Given the description of an element on the screen output the (x, y) to click on. 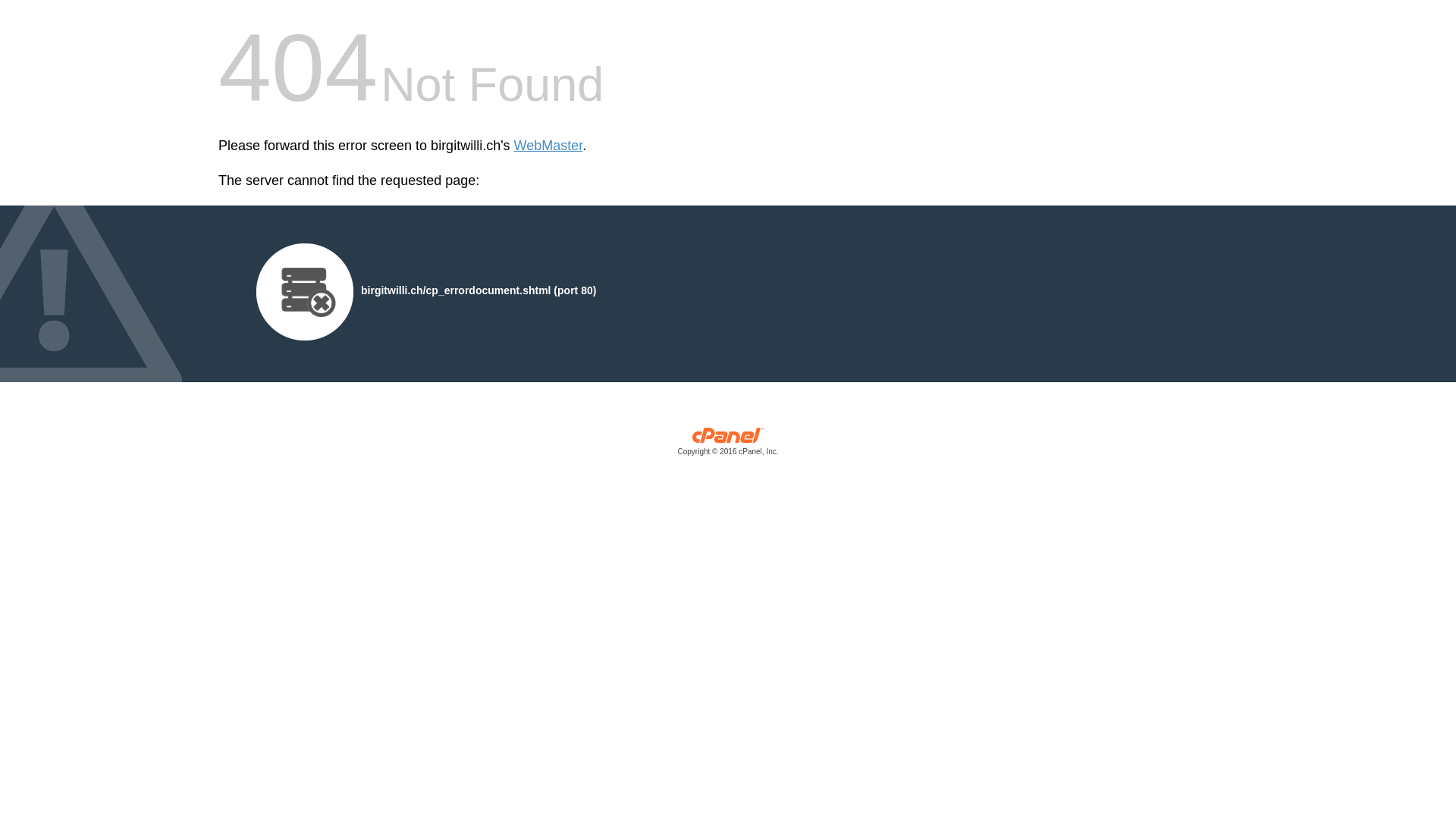
WebMaster Element type: text (548, 145)
